Given the description of an element on the screen output the (x, y) to click on. 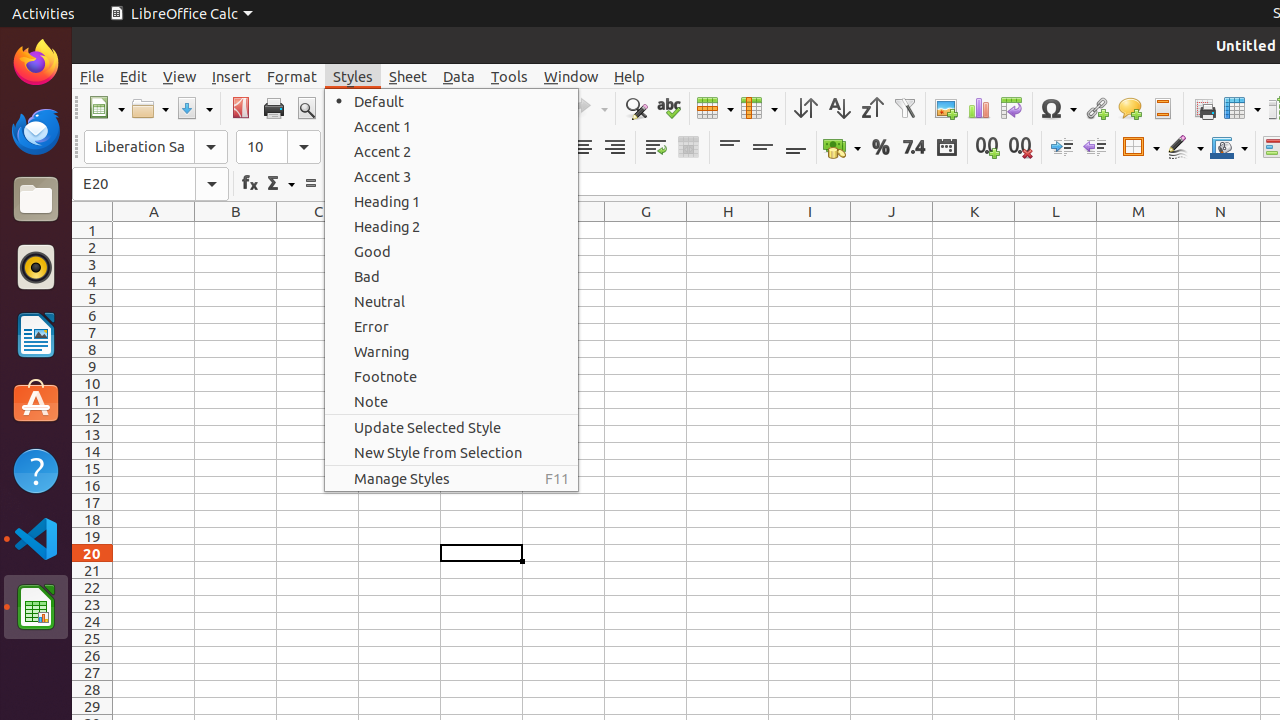
Sort Element type: push-button (805, 108)
Spelling Element type: push-button (668, 108)
Sort Ascending Element type: push-button (838, 108)
Row Element type: push-button (715, 108)
LibreOffice Calc Element type: menu (181, 13)
